Given the description of an element on the screen output the (x, y) to click on. 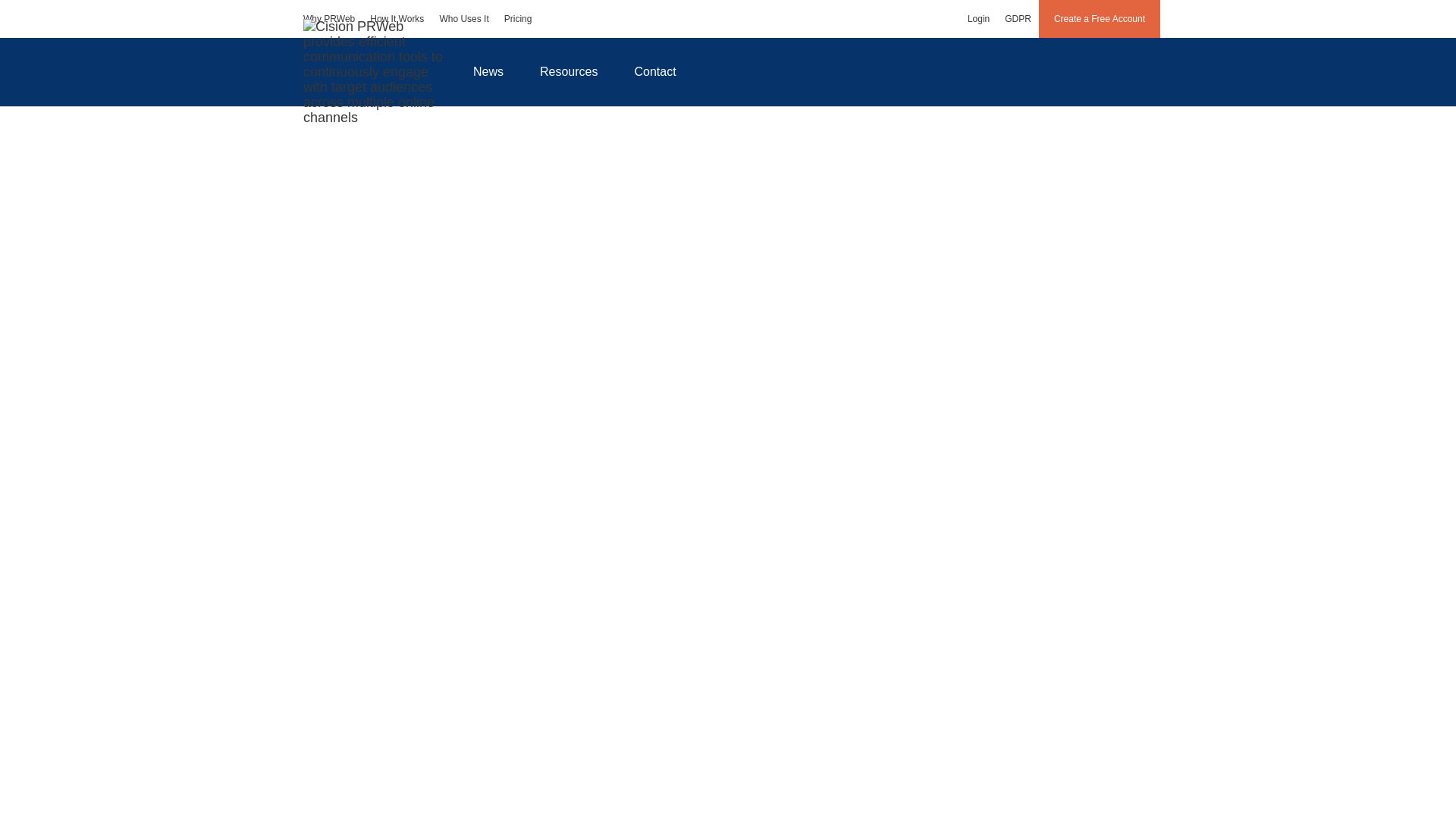
Pricing (518, 18)
Create a Free Account (1099, 18)
Resources (568, 71)
Who Uses It (463, 18)
GDPR (1018, 18)
How It Works (396, 18)
Why PRWeb (328, 18)
Login (978, 18)
Contact (654, 71)
News (487, 71)
